Given the description of an element on the screen output the (x, y) to click on. 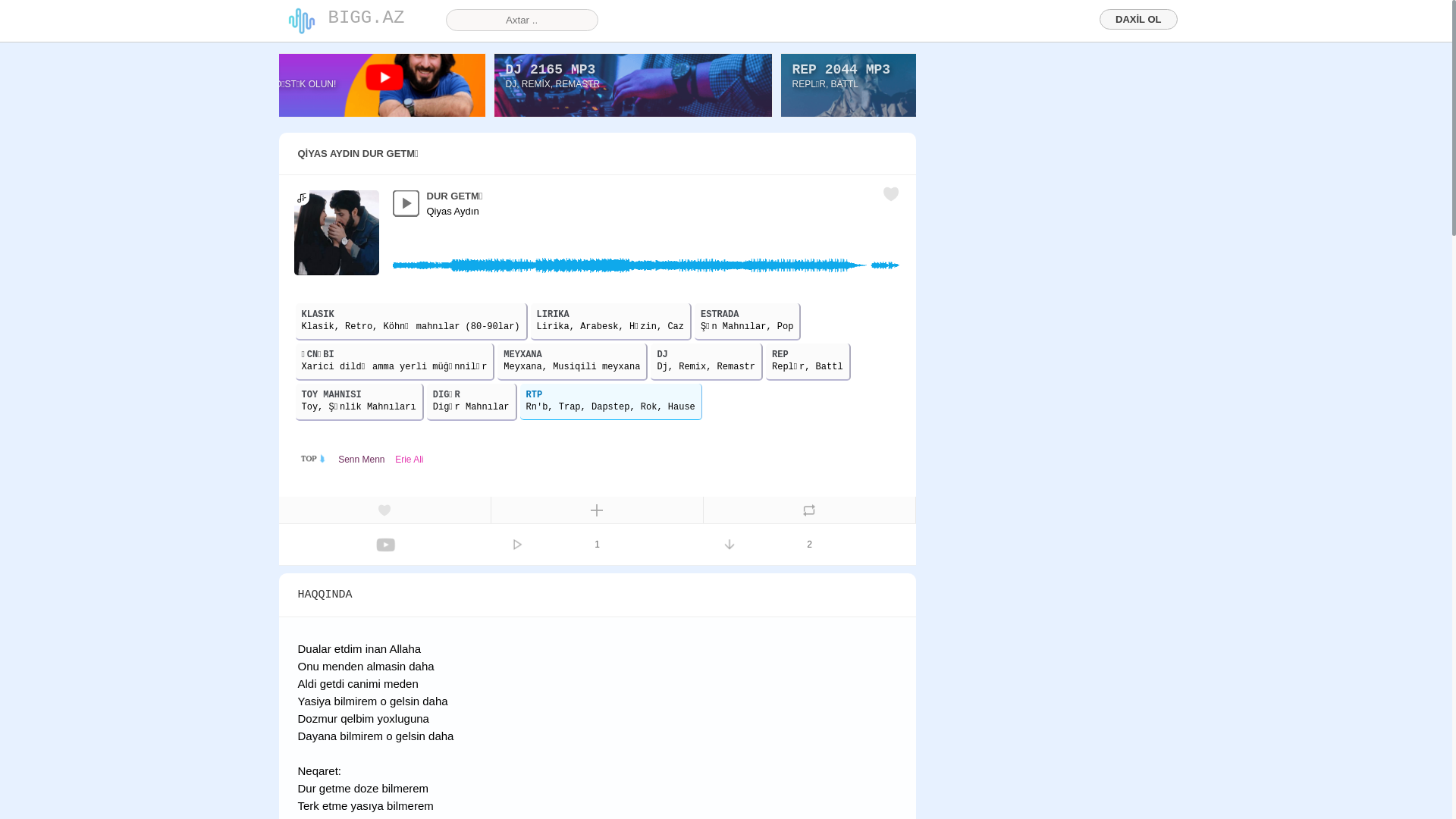
DAXIL OL Element type: text (1137, 19)
REP 2044 MP3 Element type: text (840, 69)
Erie Ali Element type: text (408, 458)
Senn Menn Element type: text (361, 458)
1 Element type: text (597, 543)
YOUTUBE Element type: text (247, 69)
DJ
Dj, Remix, Remastr Element type: text (706, 361)
RTP
Rn'b, Trap, Dapstep, Rok, Hause Element type: text (611, 401)
MEYXANA
Meyxana, Musiqili meyxana Element type: text (572, 361)
2 Element type: text (809, 543)
DJ 2165 MP3 Element type: text (550, 69)
